Given the description of an element on the screen output the (x, y) to click on. 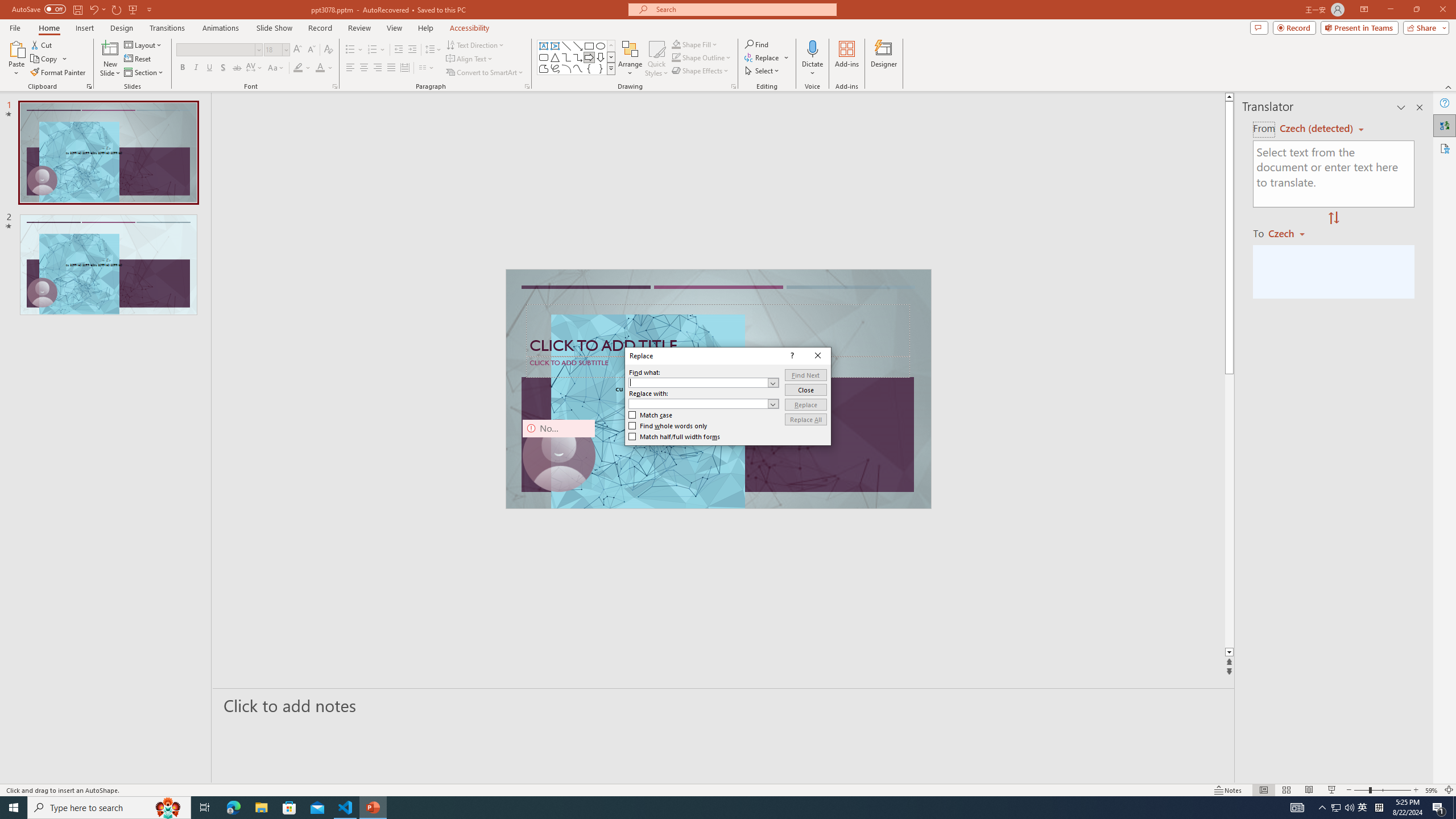
Font Color Red (320, 67)
Quick Styles (656, 58)
Rectangle: Rounded Corners (543, 57)
Section (144, 72)
Decrease Font Size (1362, 807)
Increase Font Size (310, 49)
